Given the description of an element on the screen output the (x, y) to click on. 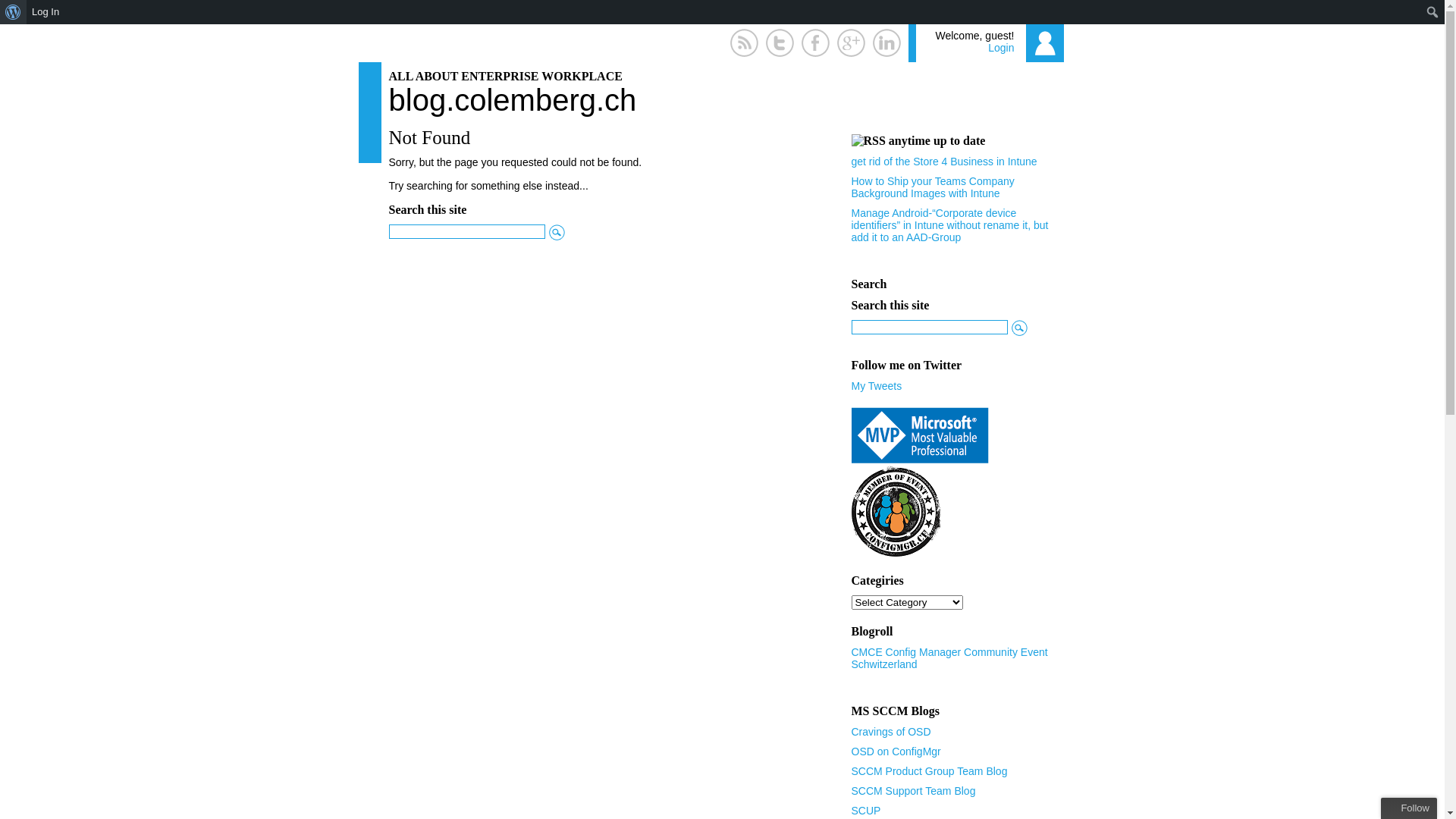
SCCM Support Team Blog Element type: text (912, 790)
How to Ship your Teams Company Background Images with Intune Element type: text (931, 187)
get rid of the Store 4 Business in Intune Element type: text (943, 161)
OSD on ConfigMgr Element type: text (895, 751)
SCCM Product Group Team Blog Element type: text (928, 771)
blog.colemberg.ch Element type: text (512, 99)
Log In Element type: text (45, 12)
CMCE Config Manager Community Event Schwitzerland Element type: text (948, 658)
Search Element type: text (16, 12)
anytime up to date Element type: text (936, 140)
Cravings of OSD Element type: text (890, 731)
My Tweets Element type: text (875, 385)
SCUP Element type: text (865, 810)
Login Element type: text (1000, 47)
